Given the description of an element on the screen output the (x, y) to click on. 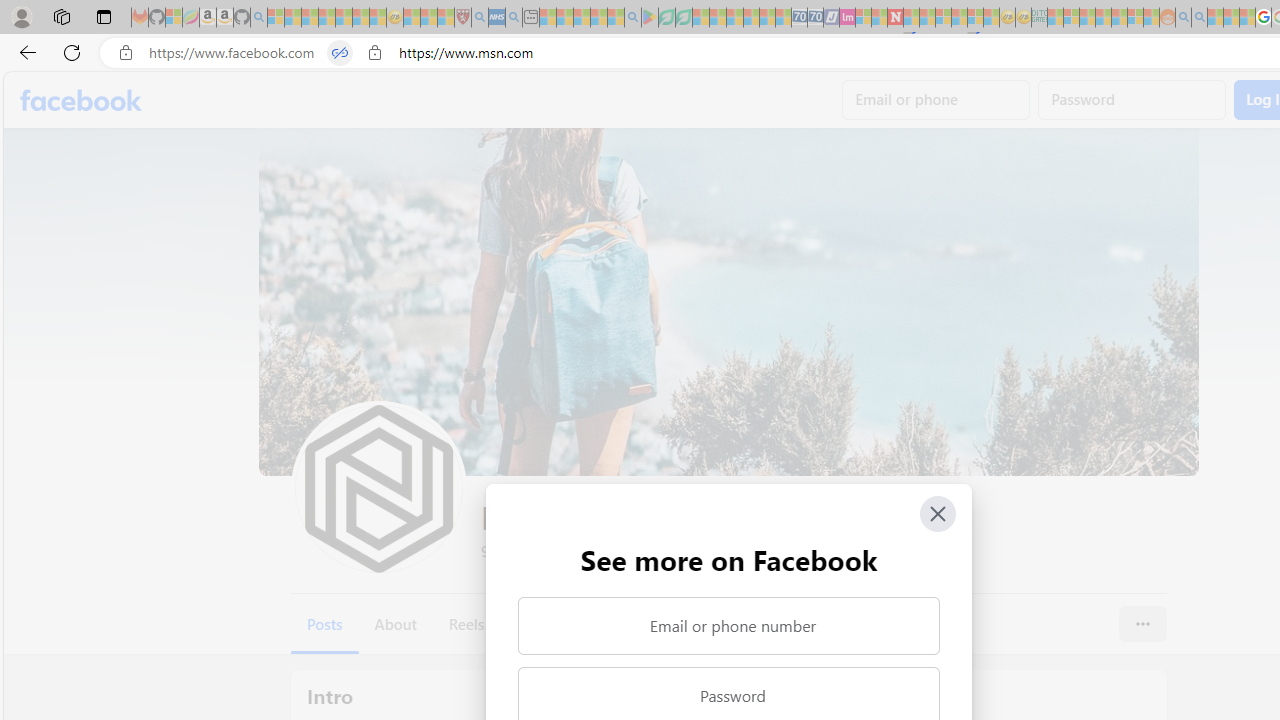
Email or phone (936, 99)
Terms of Use Agreement - Sleeping (666, 17)
New Report Confirms 2023 Was Record Hot | Watch - Sleeping (343, 17)
Latest Politics News & Archive | Newsweek.com - Sleeping (895, 17)
Kinda Frugal - MSN - Sleeping (1119, 17)
google - Search - Sleeping (632, 17)
